Given the description of an element on the screen output the (x, y) to click on. 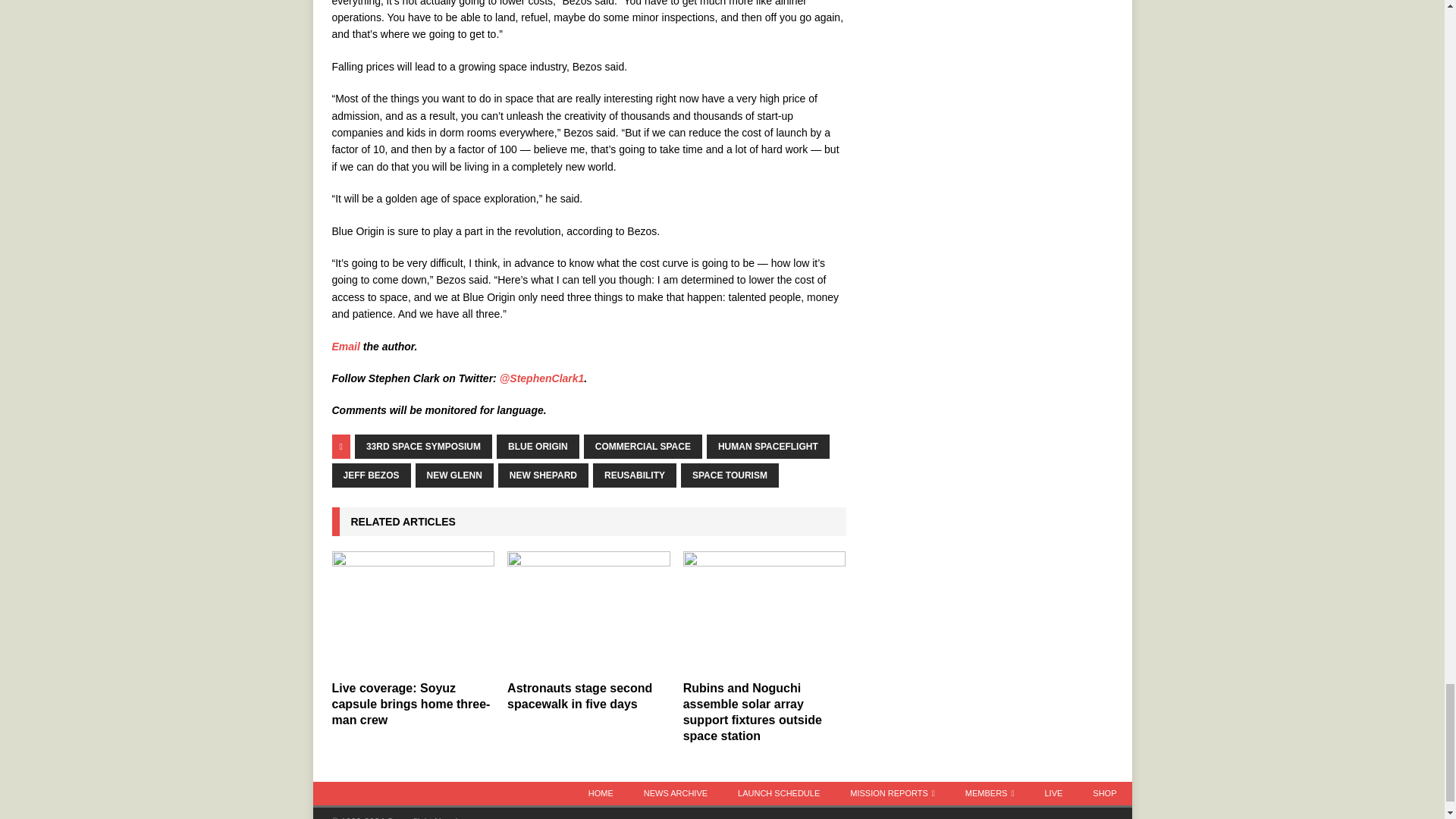
Live coverage: Soyuz capsule brings home three-man crew (410, 703)
Live coverage: Soyuz capsule brings home three-man crew (413, 612)
Astronauts stage second spacewalk in five days (579, 695)
Astronauts stage second spacewalk in five days (587, 612)
